Given the description of an element on the screen output the (x, y) to click on. 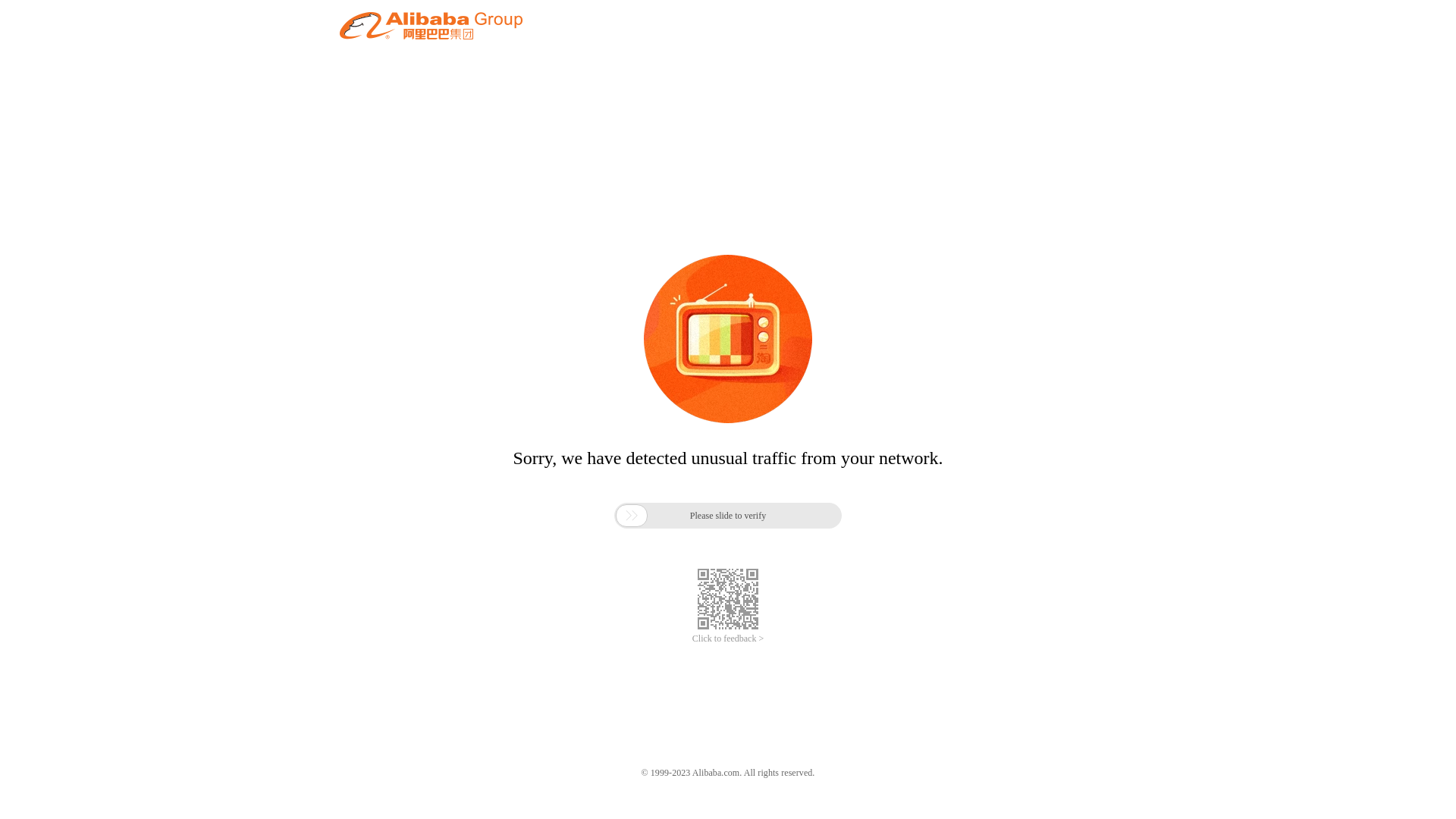
Click to feedback > Element type: text (727, 638)
